Given the description of an element on the screen output the (x, y) to click on. 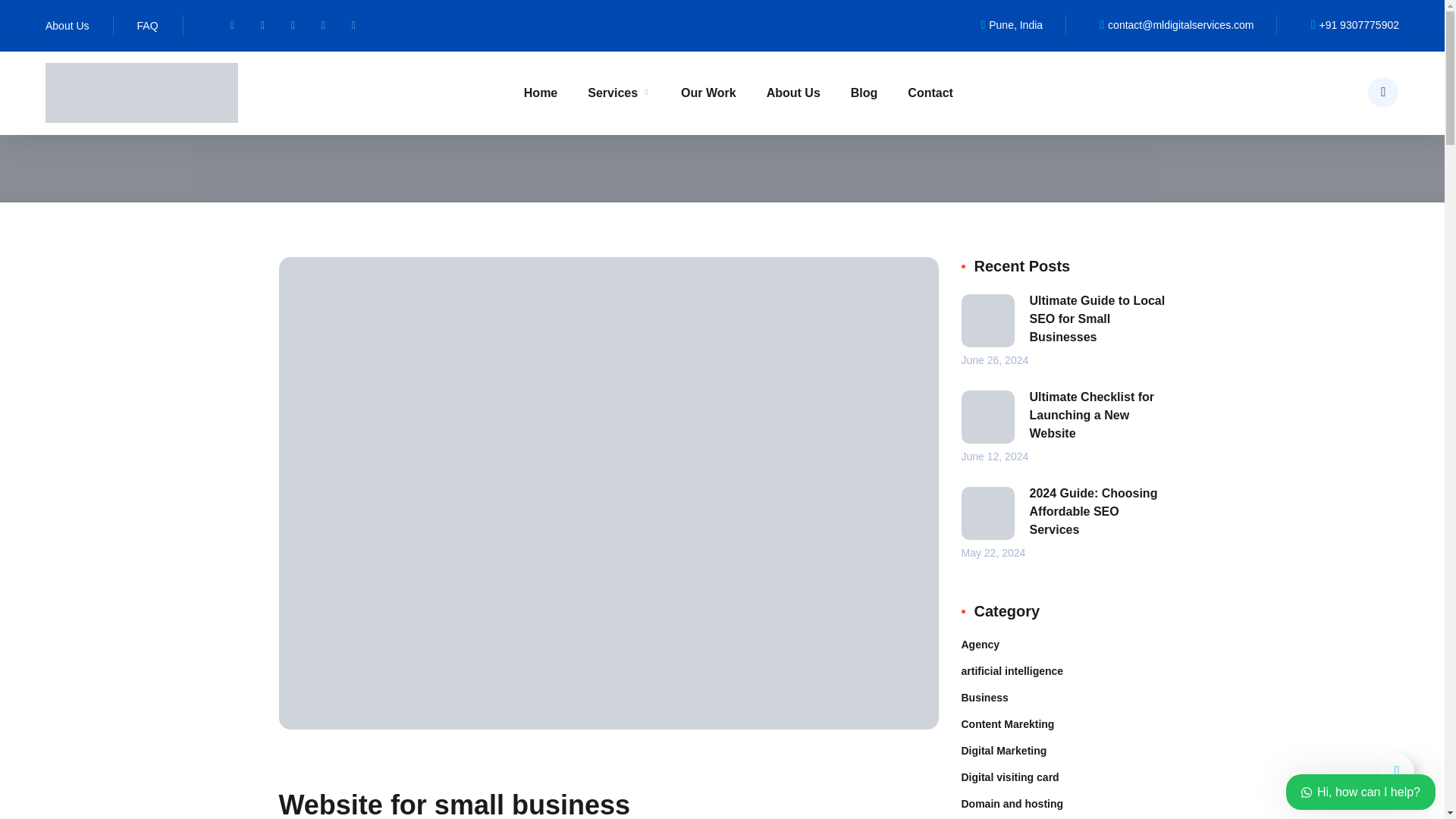
Contact (930, 92)
2024 Guide: Choosing Affordable SEO Services 16 (987, 512)
FAQ (147, 25)
About Us (794, 92)
Pune, India (1005, 25)
Services (619, 92)
Our Work (708, 92)
About Us (66, 25)
Ultimate Guide to Local SEO for Small Businesses 14 (987, 320)
Ultimate Checklist for Launching a New Website 15 (987, 416)
